Given the description of an element on the screen output the (x, y) to click on. 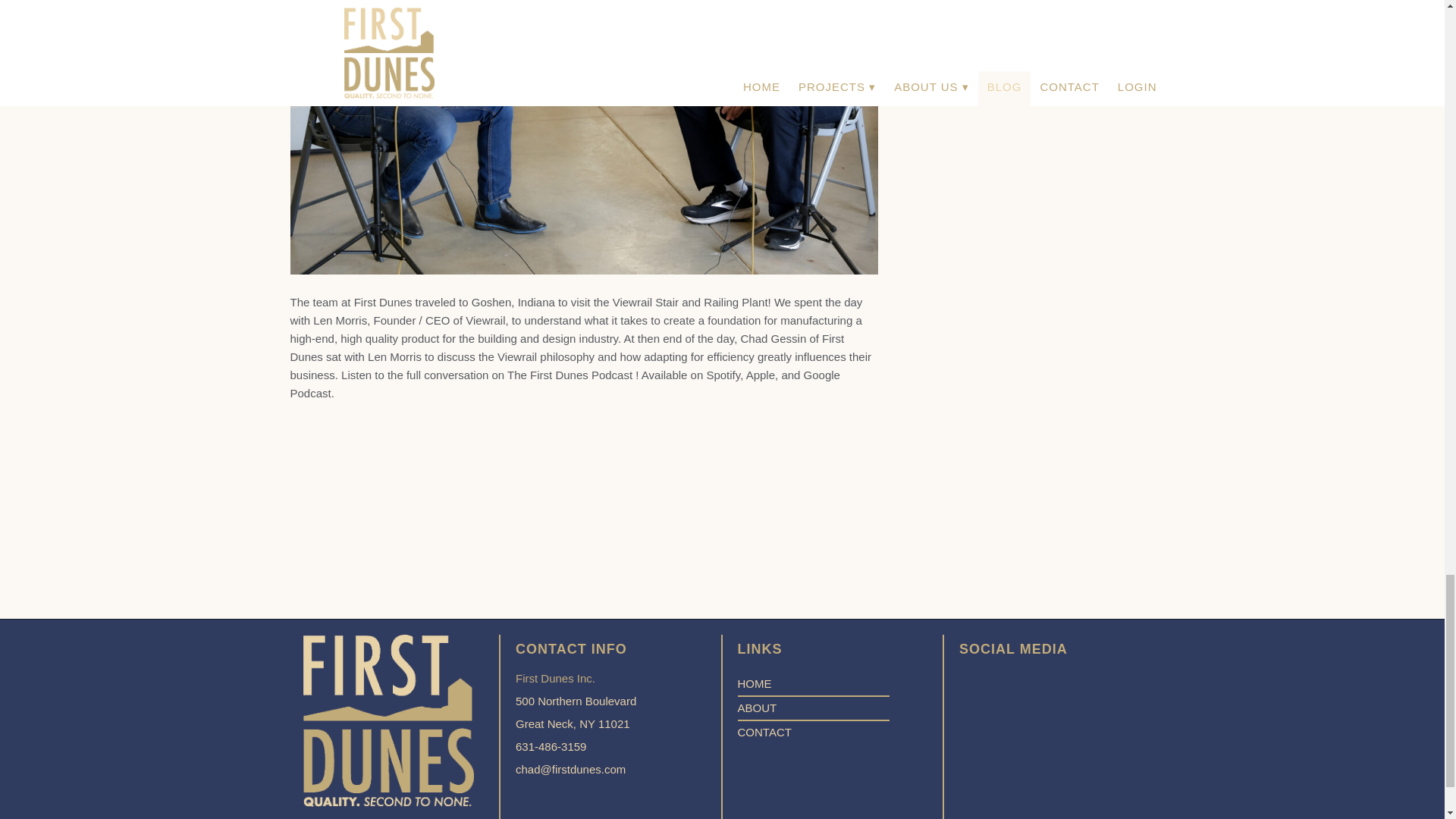
631-486-3159 (575, 746)
CONTACT (763, 731)
HOME (753, 683)
ABOUT (575, 712)
